Given the description of an element on the screen output the (x, y) to click on. 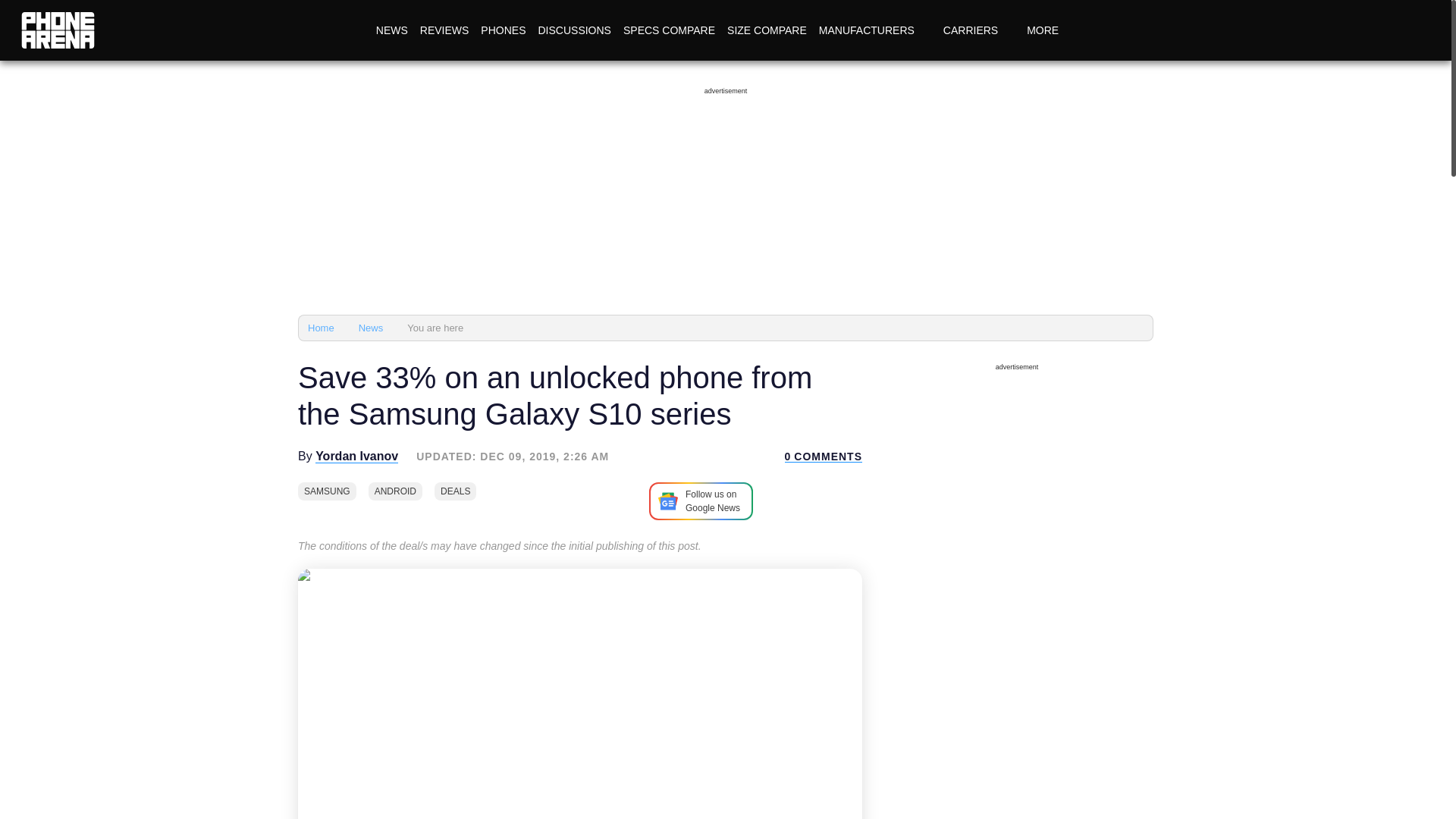
MORE (1050, 30)
REVIEWS (444, 30)
NEWS (391, 30)
PHONES (502, 30)
CARRIERS (978, 30)
DISCUSSIONS (573, 30)
SIZE COMPARE (766, 30)
MANUFACTURERS (874, 30)
SPECS COMPARE (668, 30)
